Given the description of an element on the screen output the (x, y) to click on. 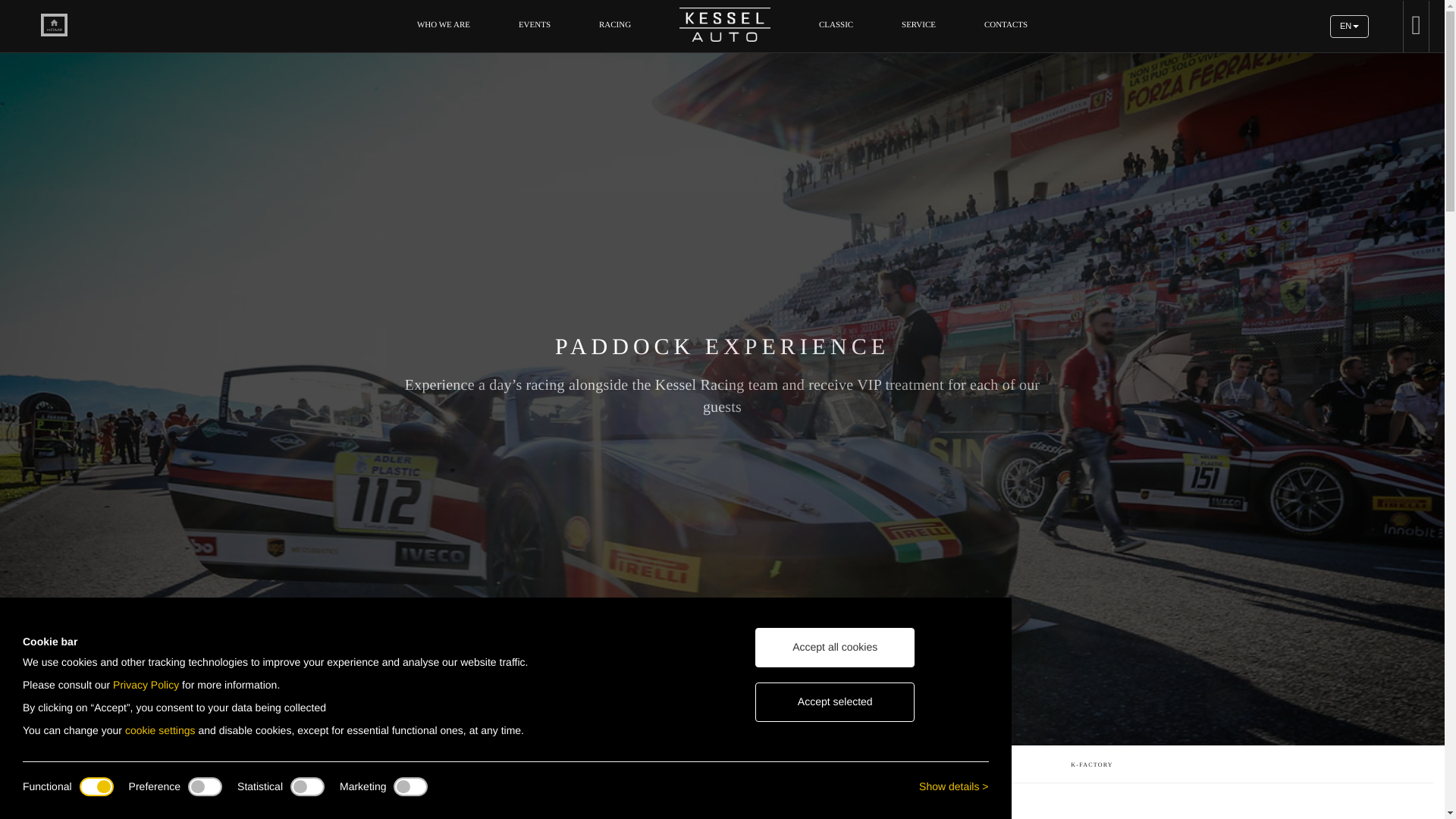
DRIVING EXPERIENCE (351, 779)
SERVICE (918, 24)
K-SPACE (796, 779)
PADDOCK EXPERIENCE (647, 779)
WHO WE ARE (1349, 26)
KONVIVIUM (443, 24)
EVENTS (943, 779)
RACING EXPERIENCE (534, 24)
RACING (500, 779)
CONTACTS (614, 24)
K-FACTORY (1004, 24)
EN (1091, 779)
CLASSIC (1349, 26)
